Given the description of an element on the screen output the (x, y) to click on. 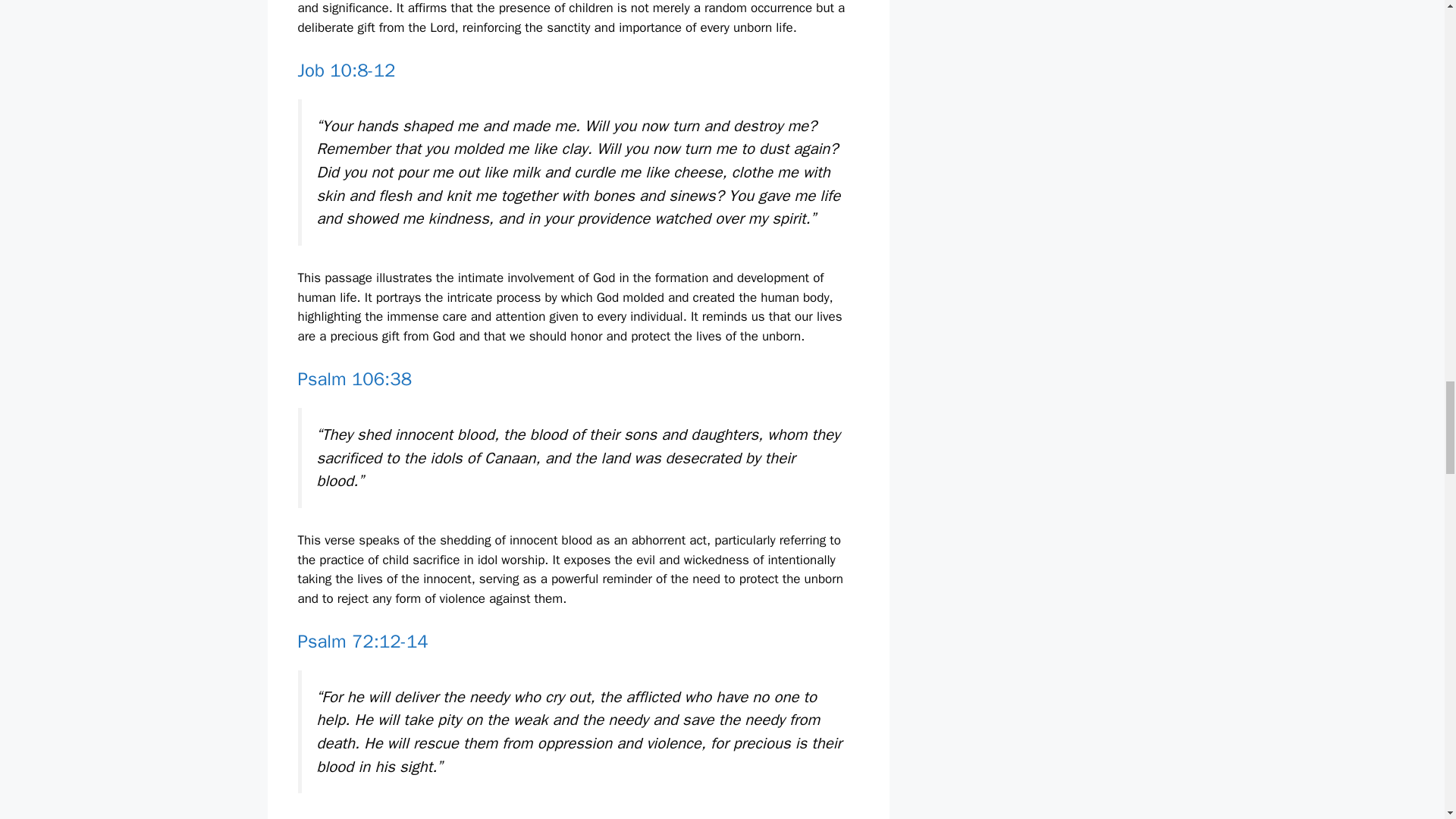
Psalm 72:12-14 (362, 640)
Job 10:8-12 (345, 69)
Psalm 106:38 (354, 378)
